Given the description of an element on the screen output the (x, y) to click on. 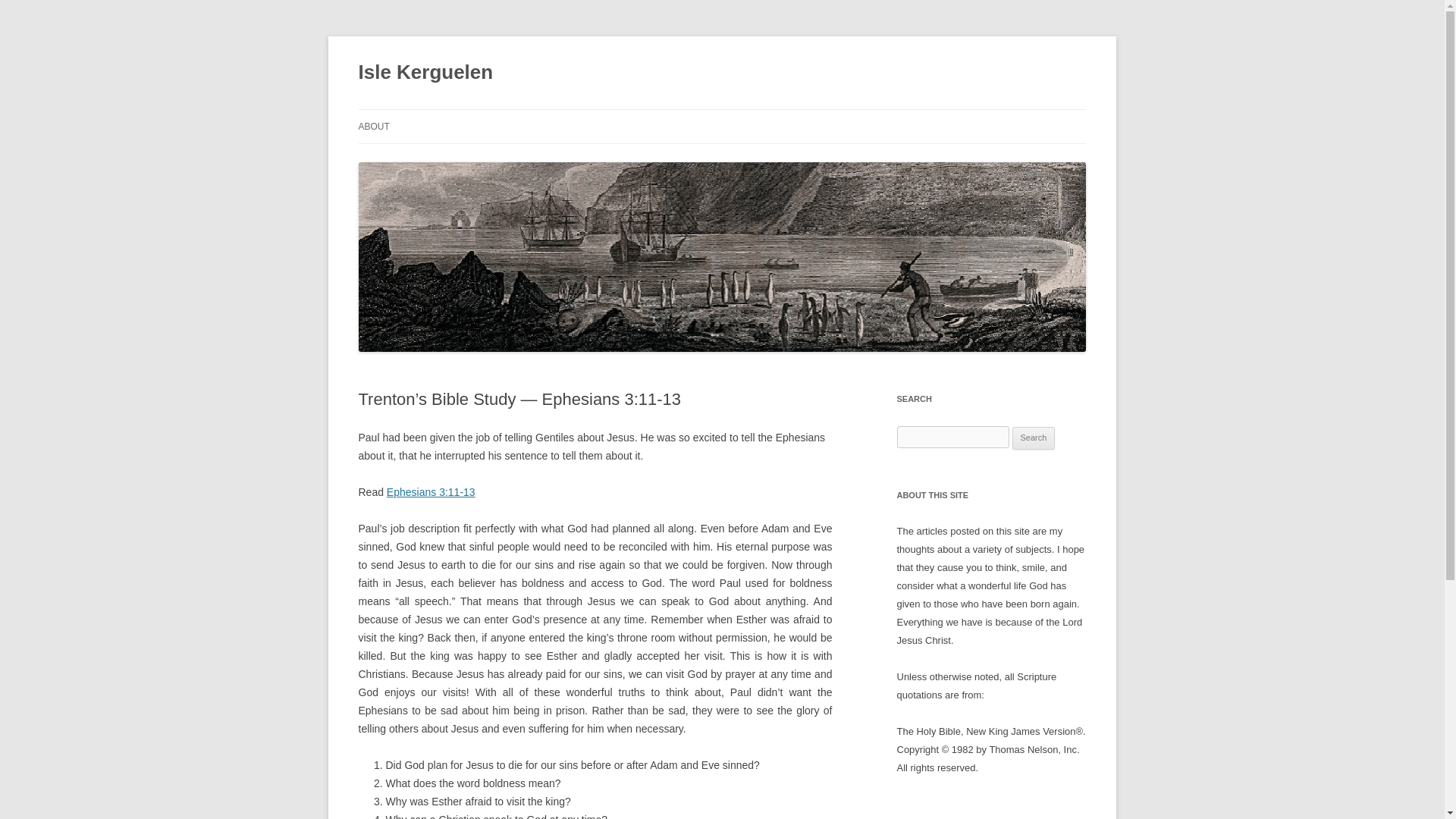
Isle Kerguelen (425, 72)
Search (1033, 437)
Search (1033, 437)
Ephesians 3:11-13 (431, 491)
ABOUT (373, 126)
